Given the description of an element on the screen output the (x, y) to click on. 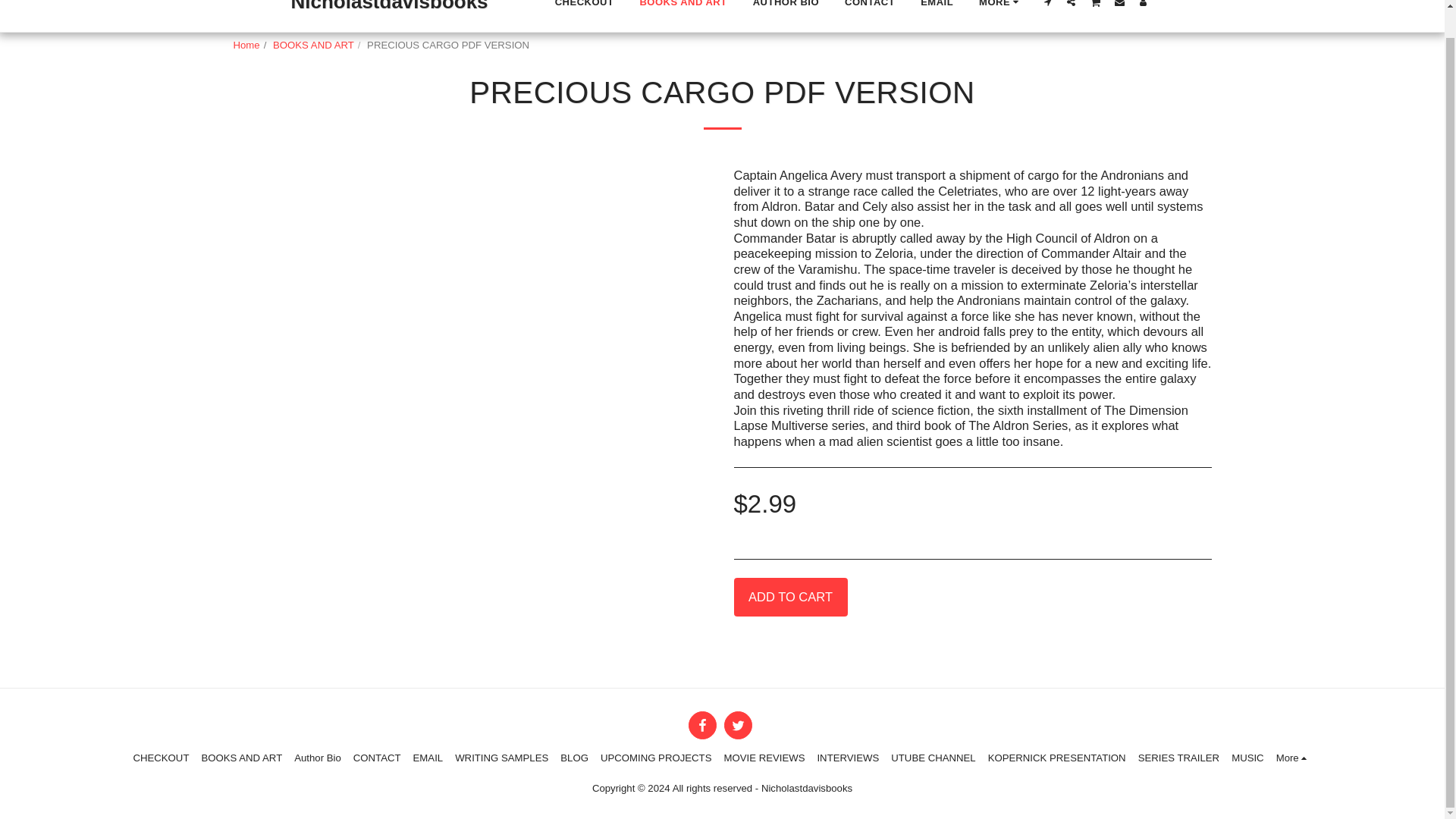
MORE   (1000, 6)
AUTHOR BIO (786, 6)
BOOKS AND ART (682, 6)
Nicholastdavisbooks (388, 16)
CONTACT (869, 6)
